Given the description of an element on the screen output the (x, y) to click on. 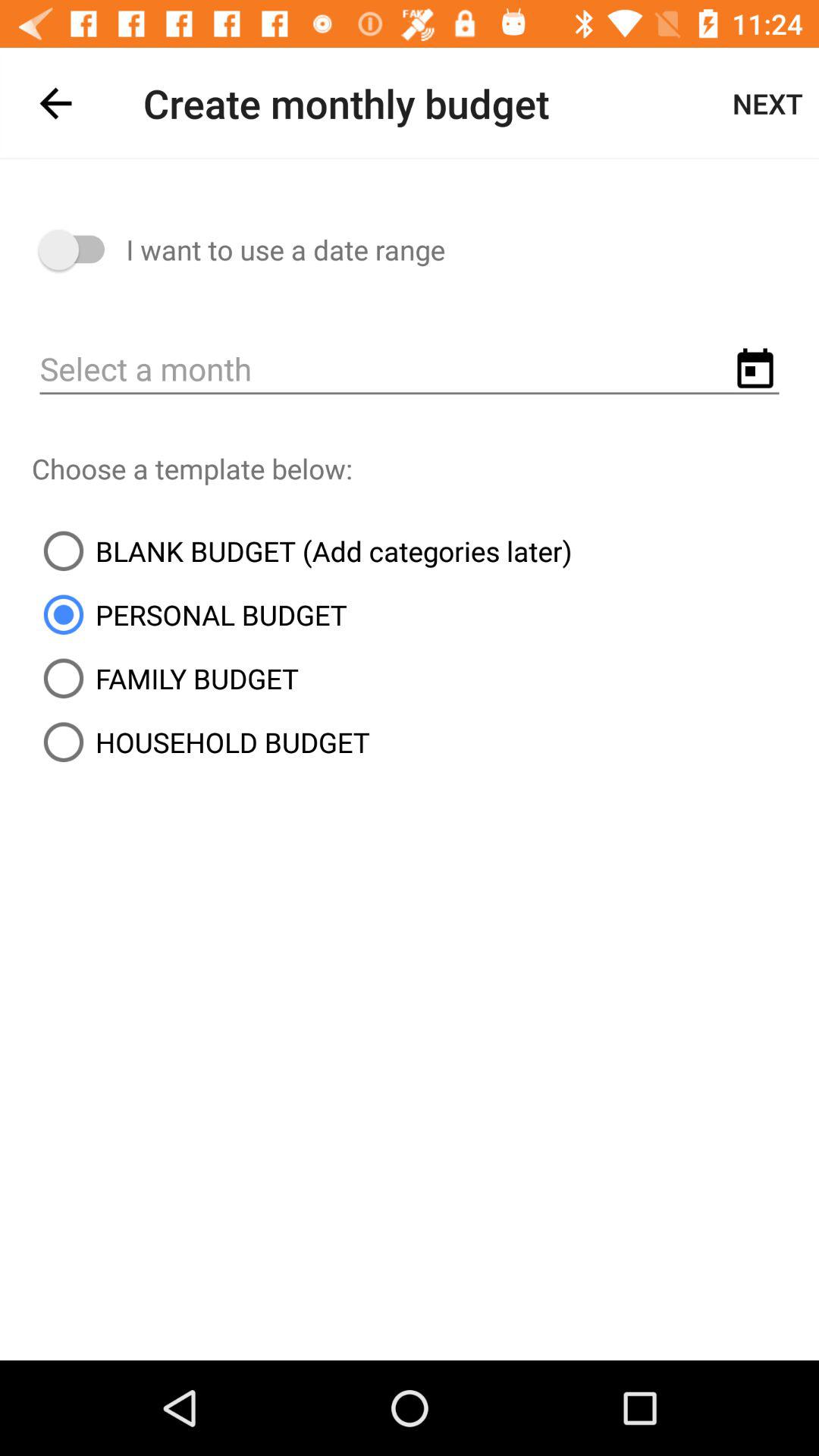
select the icon below the choose a template (301, 550)
